Given the description of an element on the screen output the (x, y) to click on. 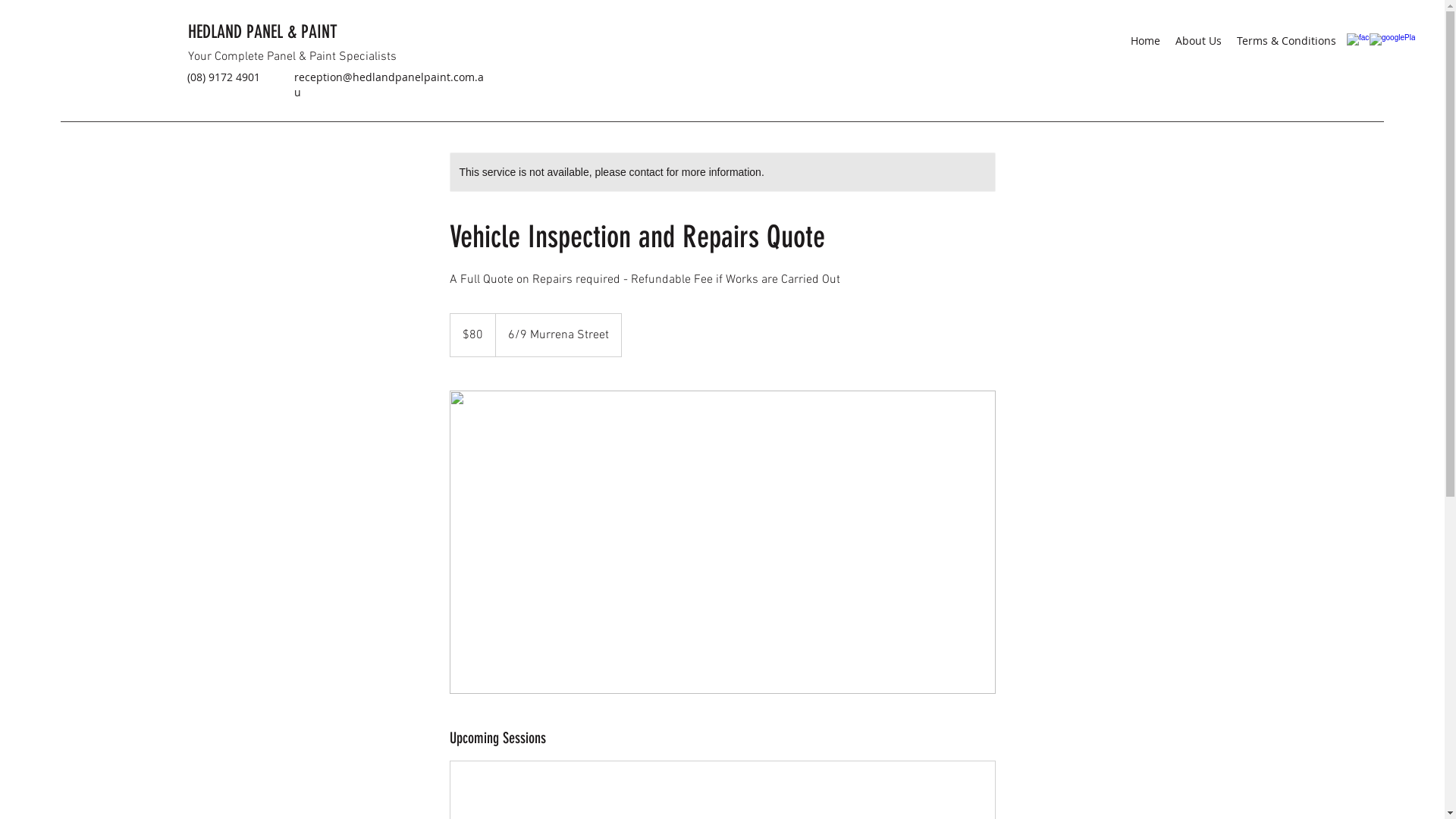
reception@hedlandpanelpaint.com.au Element type: text (388, 84)
Home Element type: text (1145, 40)
Terms & Conditions Element type: text (1286, 40)
About Us Element type: text (1198, 40)
